Given the description of an element on the screen output the (x, y) to click on. 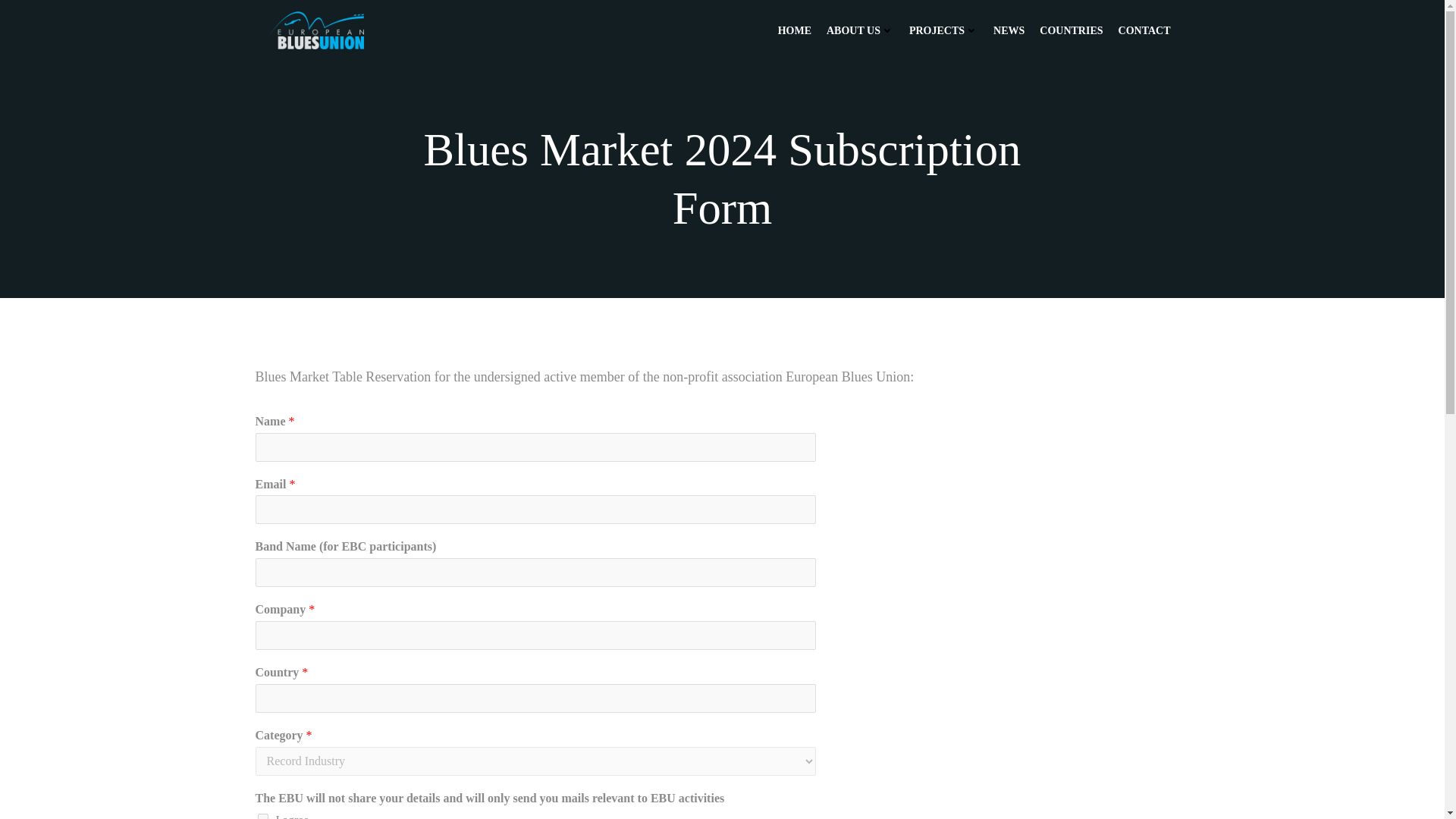
HOME (793, 28)
PROJECTS (943, 30)
ABOUT US (860, 28)
I agree (262, 816)
